Given the description of an element on the screen output the (x, y) to click on. 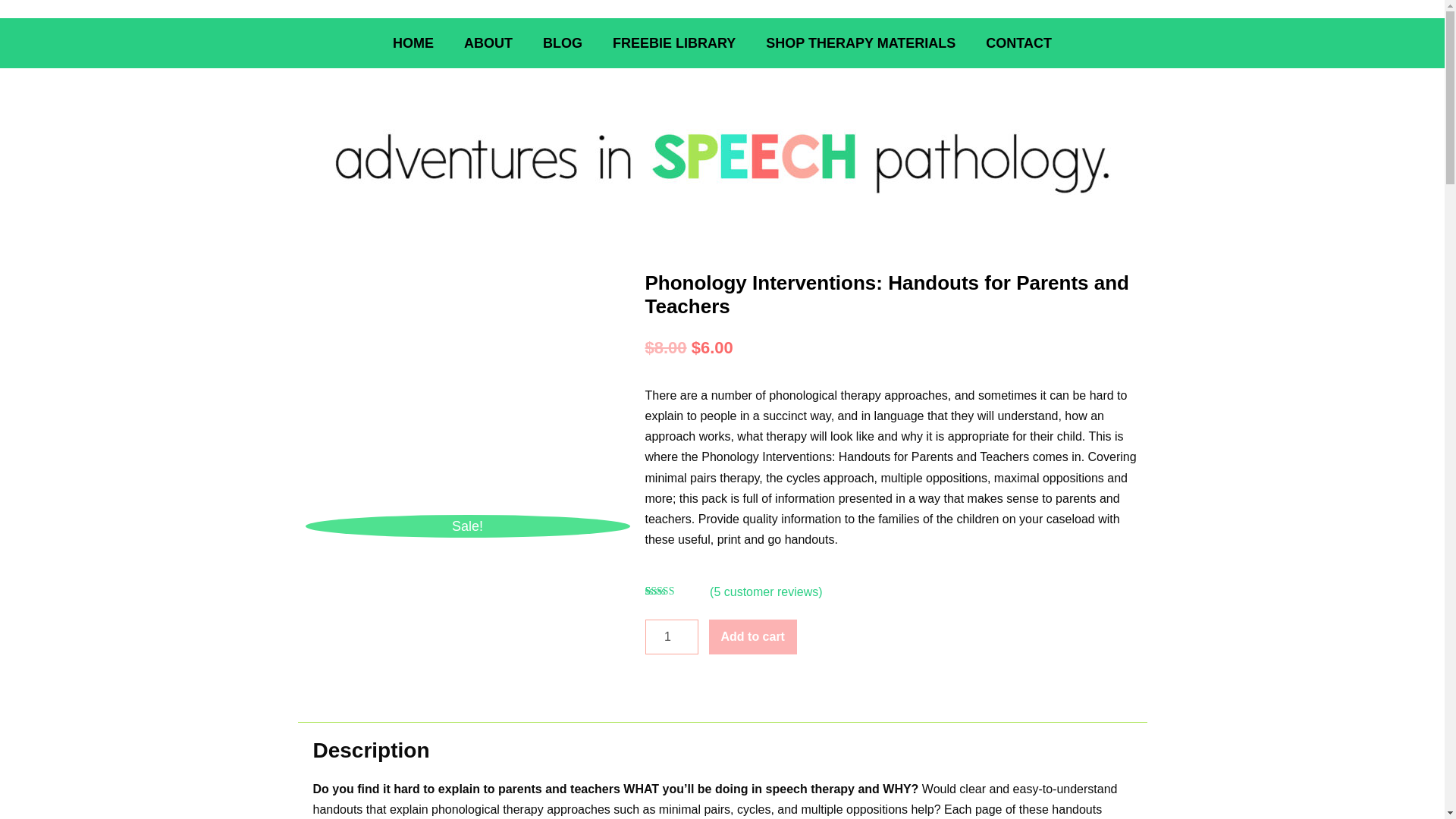
ABOUT (487, 42)
Add to cart (751, 636)
CONTACT (1019, 42)
1 (671, 636)
BLOG (561, 42)
FREEBIE LIBRARY (673, 42)
HOME (412, 42)
SHOP THERAPY MATERIALS (861, 42)
